Given the description of an element on the screen output the (x, y) to click on. 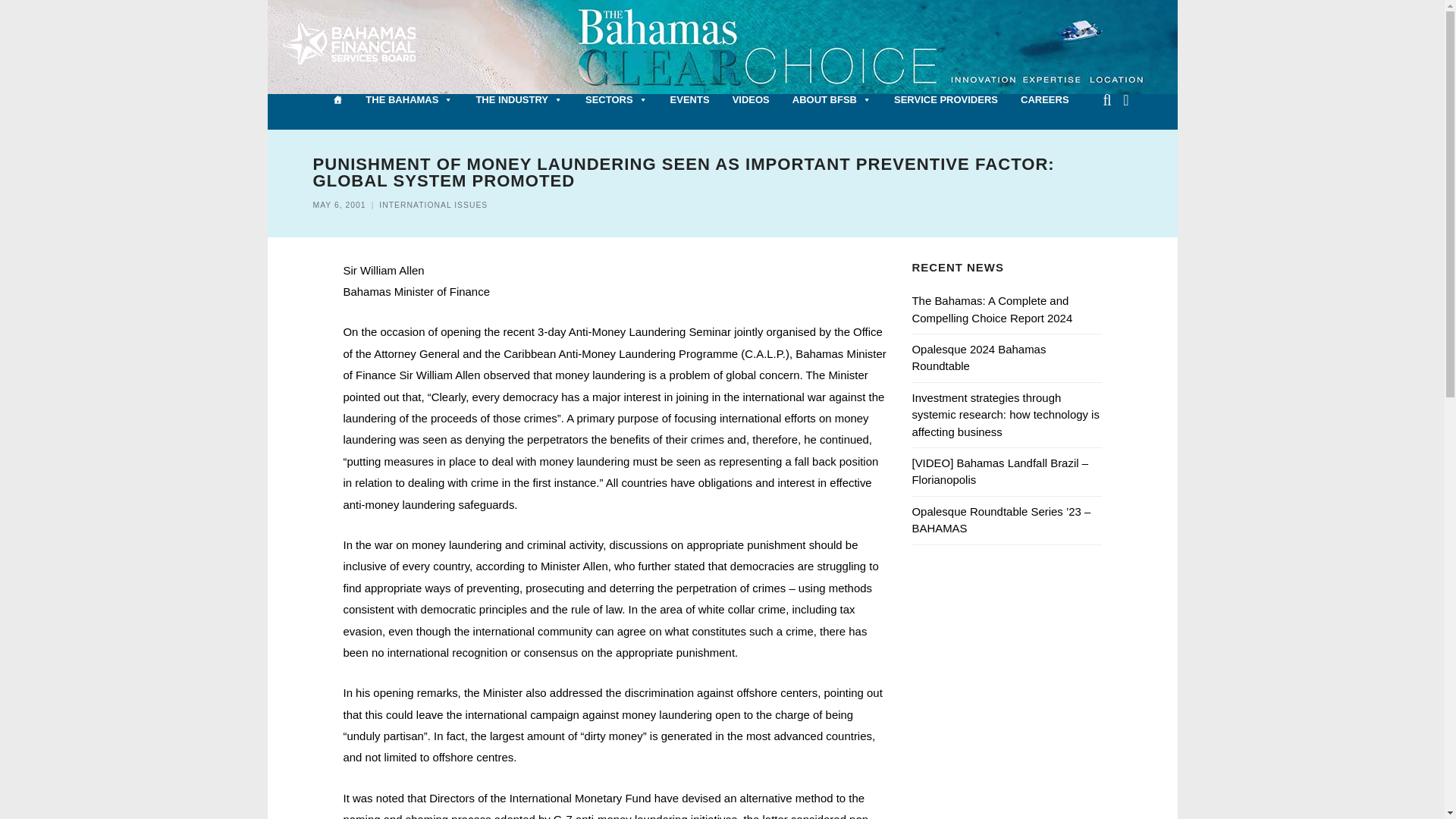
View all posts in International Issues (432, 204)
